Given the description of an element on the screen output the (x, y) to click on. 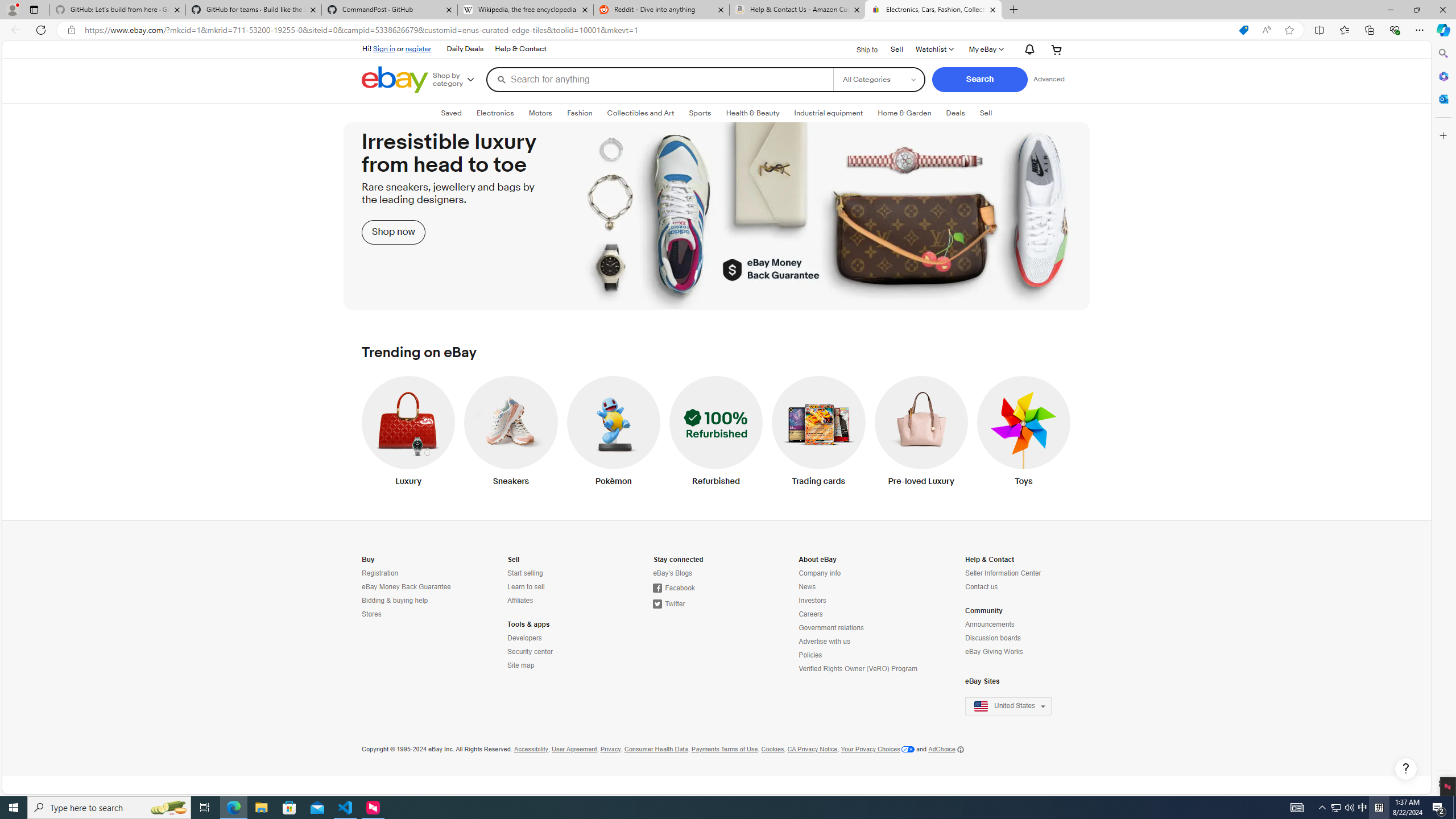
Facebook (703, 587)
Affiliates (557, 600)
Toys (1023, 433)
Industrial equipmentExpand: Industrial equipment (828, 112)
WatchlistExpand Watch List (933, 49)
Start selling (557, 573)
Saved (451, 112)
Company info (858, 573)
CA Privacy Notice (812, 749)
Health & BeautyExpand: Health & Beauty (752, 112)
